Given the description of an element on the screen output the (x, y) to click on. 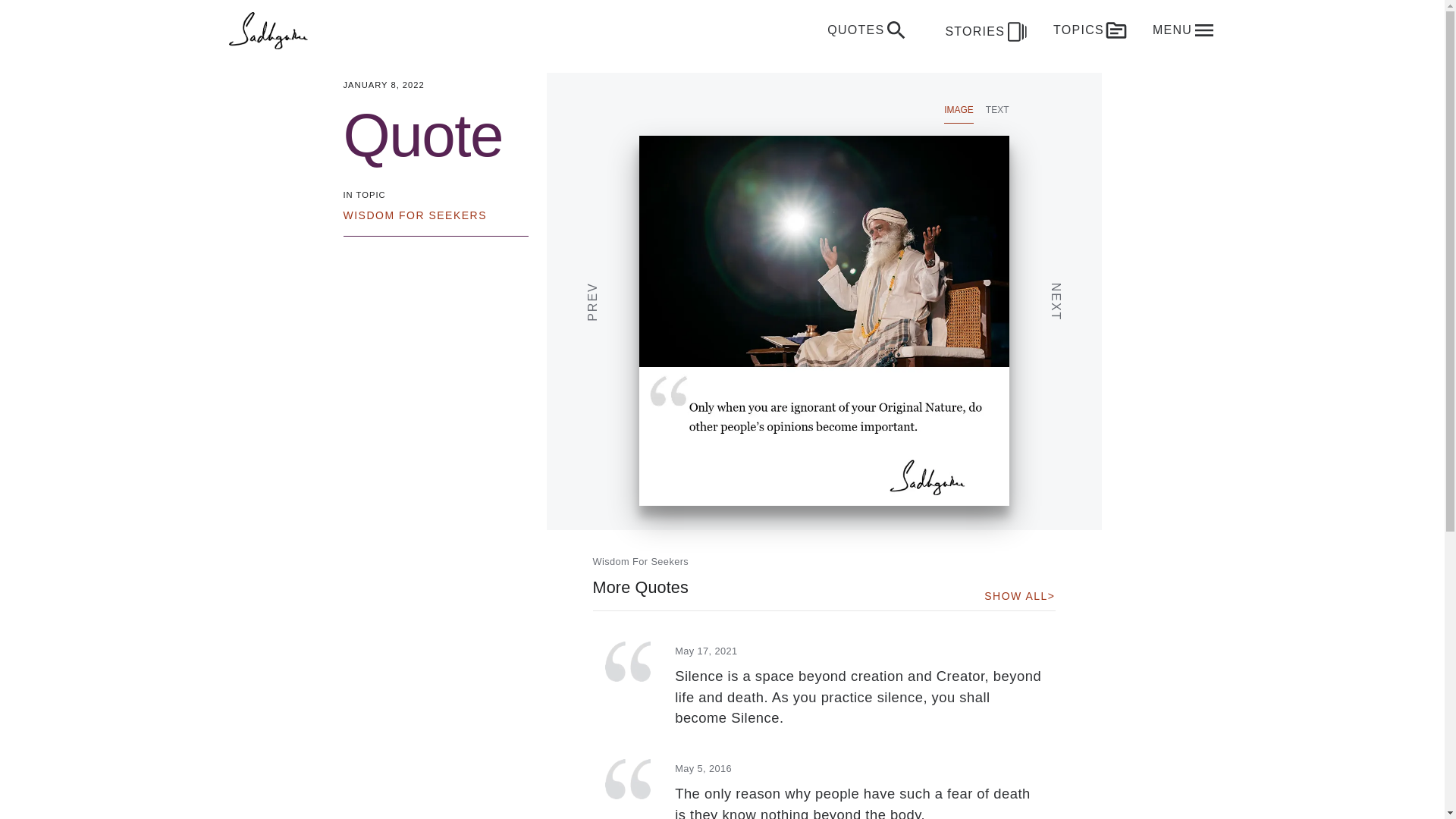
STORIES (981, 30)
WISDOM FOR SEEKERS (414, 215)
PREV (630, 263)
TOPICS (1090, 30)
MENU (1183, 30)
QUOTES (867, 30)
NEXT (1092, 263)
